Given the description of an element on the screen output the (x, y) to click on. 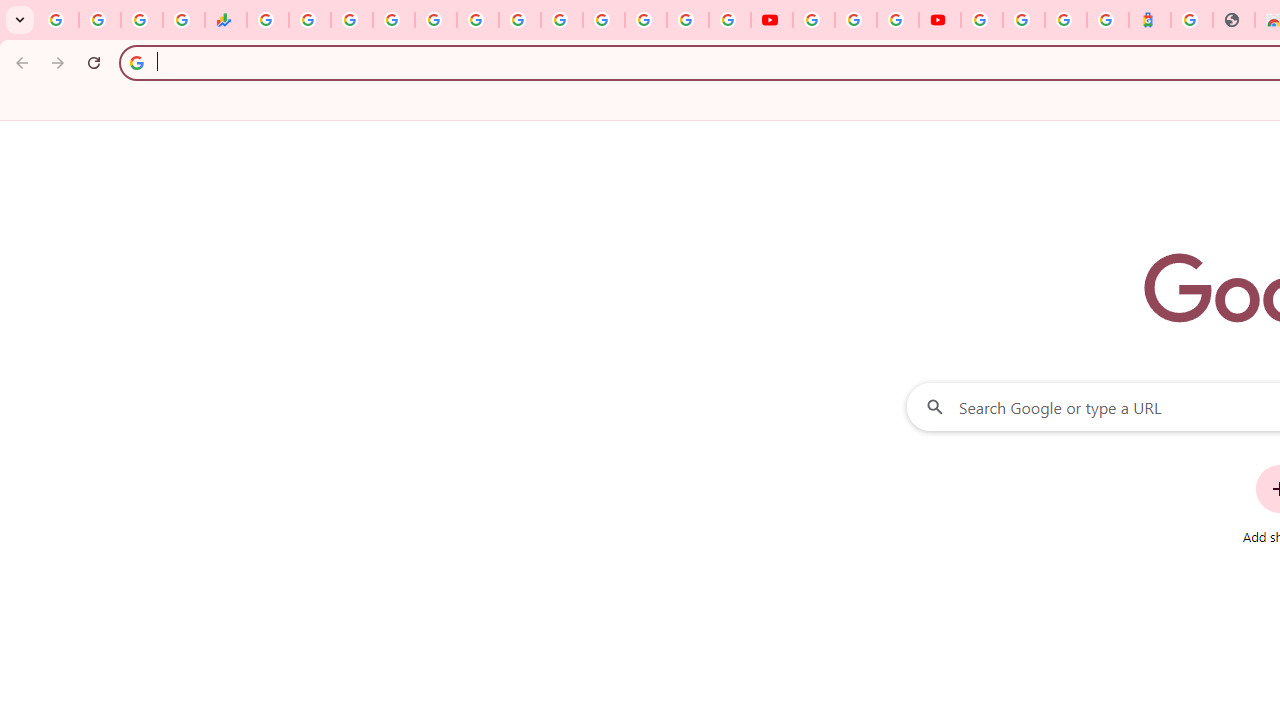
Sign in - Google Accounts (393, 20)
YouTube (561, 20)
Sign in - Google Accounts (1023, 20)
Search icon (136, 62)
Privacy Checkup (730, 20)
Atour Hotel - Google hotels (1150, 20)
Google Workspace Admin Community (58, 20)
